Given the description of an element on the screen output the (x, y) to click on. 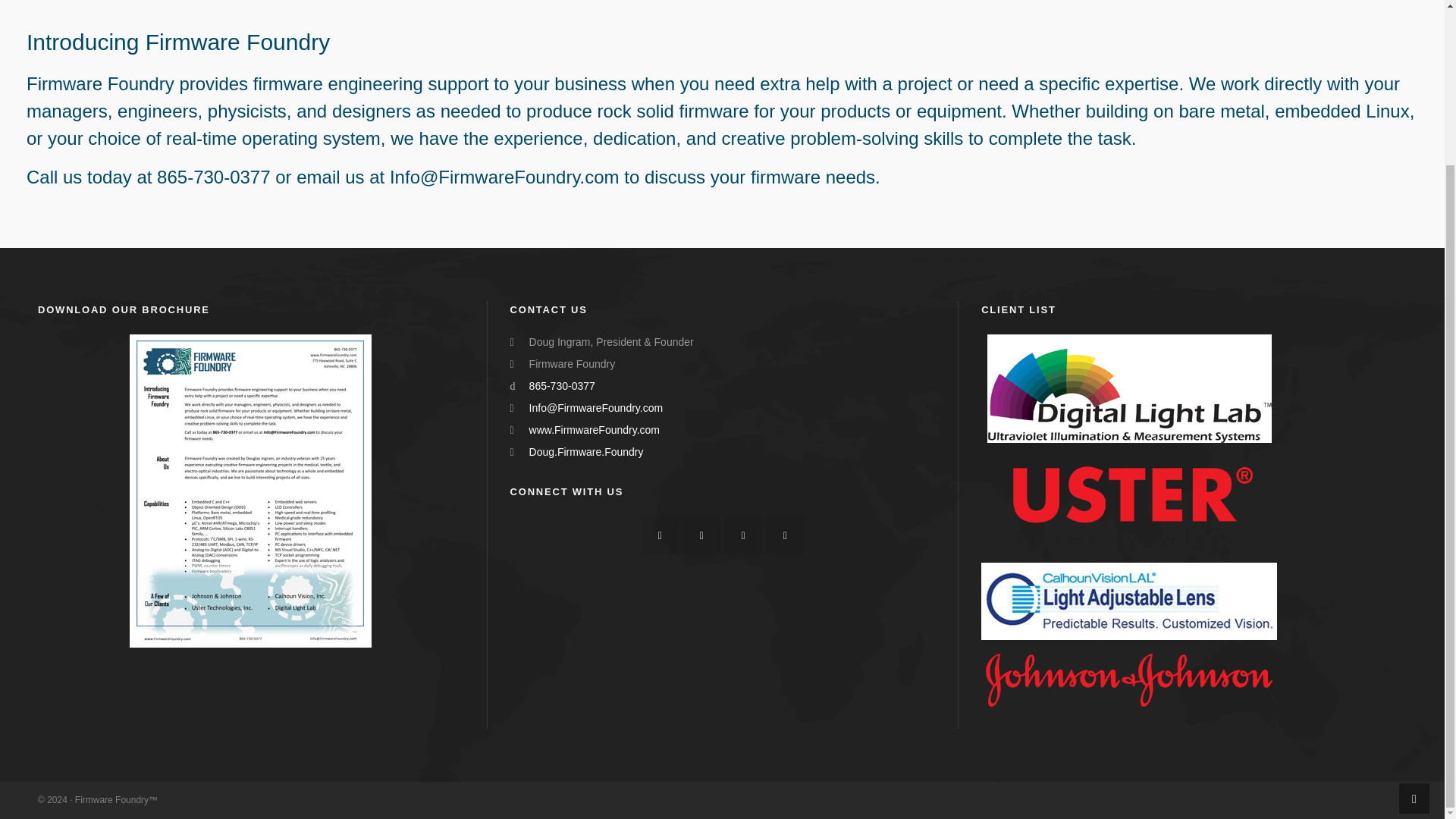
Doug.Firmware.Foundry (586, 451)
www.FirmwareFoundry.com (594, 429)
865-730-0377 (562, 386)
